Given the description of an element on the screen output the (x, y) to click on. 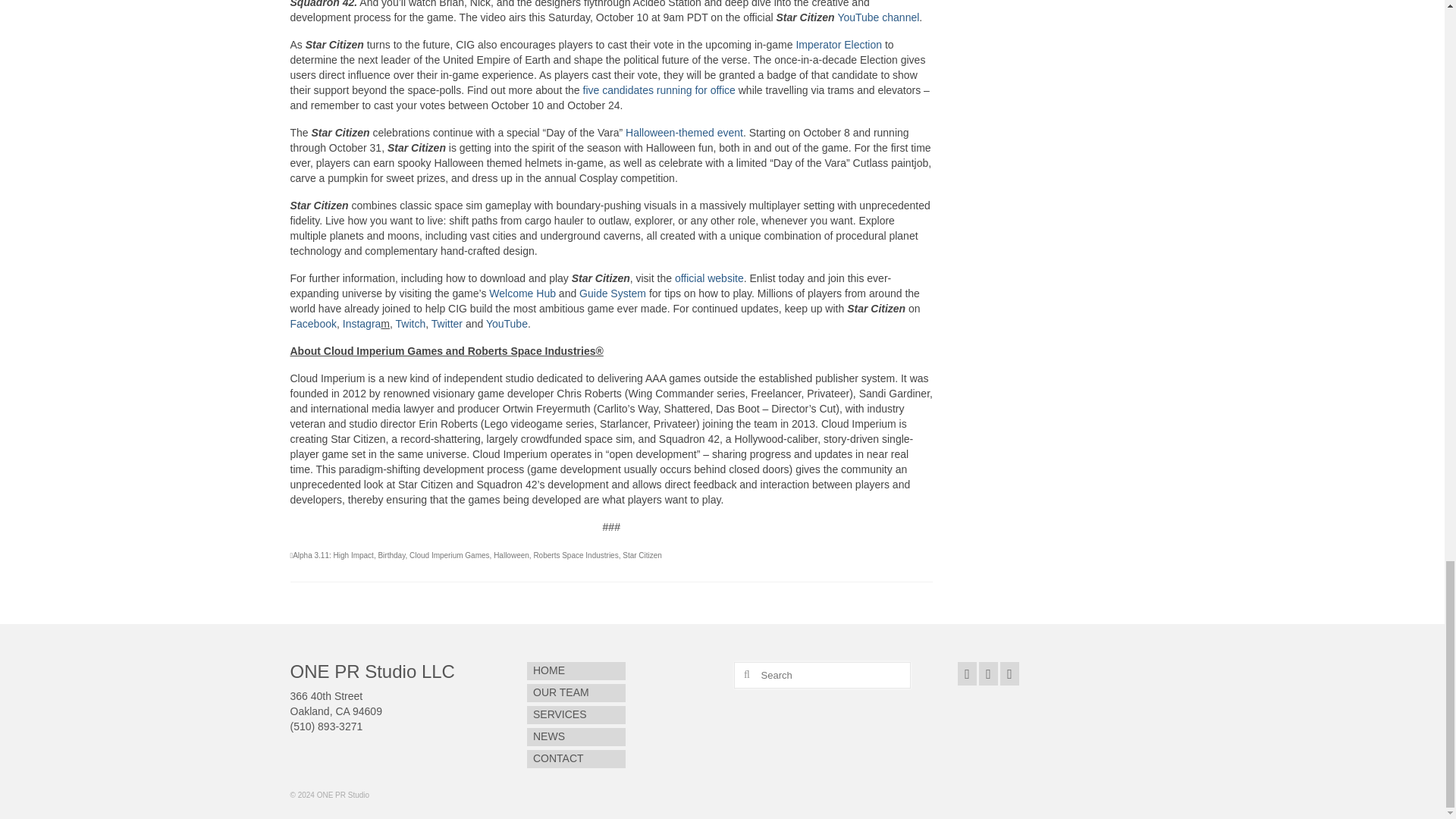
Welcome Hub (522, 293)
candidates (627, 90)
five (591, 90)
for (700, 90)
Guide System (612, 293)
Instagra (361, 323)
Halloween-themed event (684, 132)
Imperator Election (838, 44)
official website (709, 277)
office (722, 90)
Facebook (312, 323)
YouTube channel (877, 17)
running (674, 90)
